Given the description of an element on the screen output the (x, y) to click on. 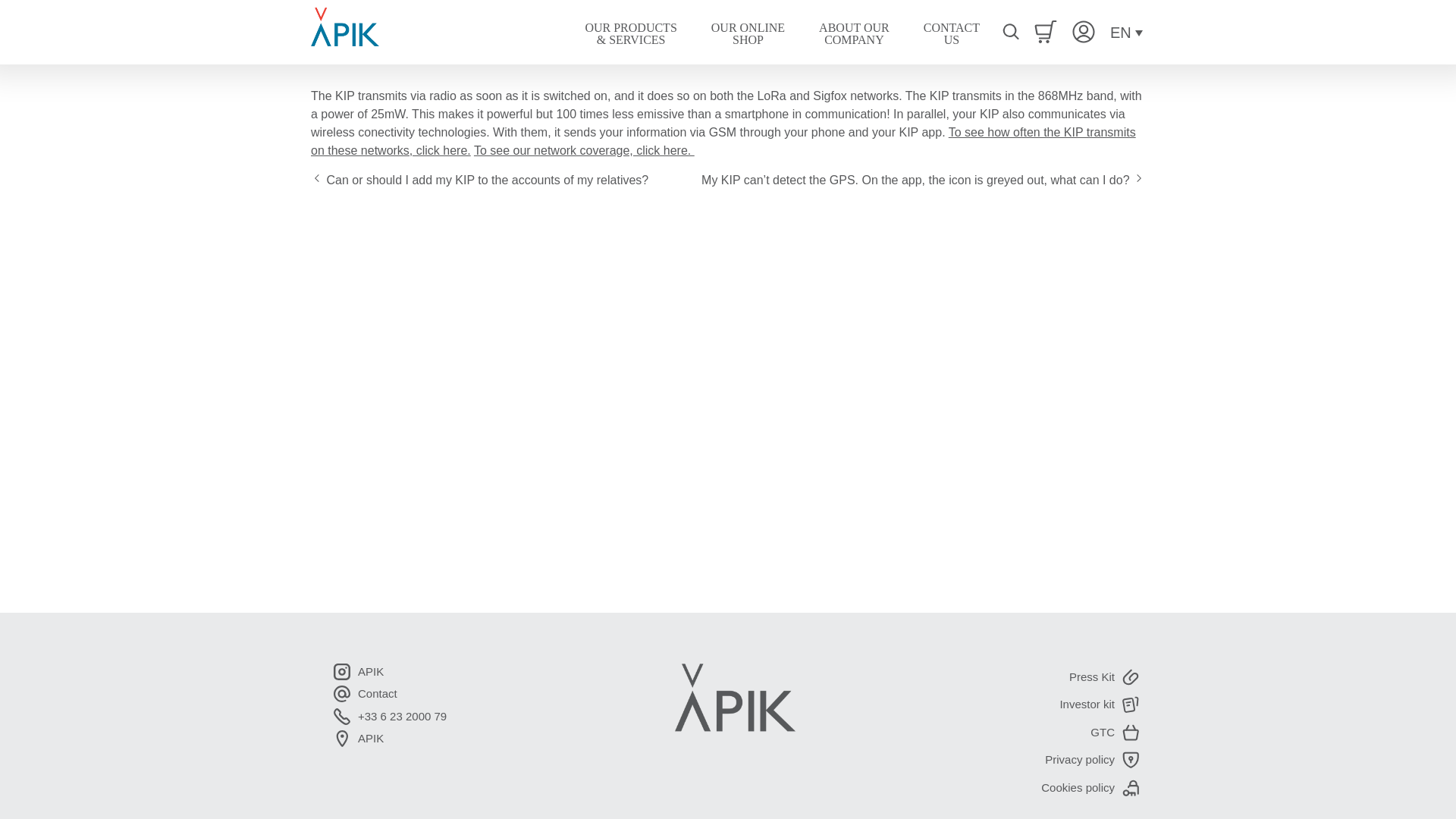
To see our network coverage, click here.  (584, 150)
EN (747, 33)
